Given the description of an element on the screen output the (x, y) to click on. 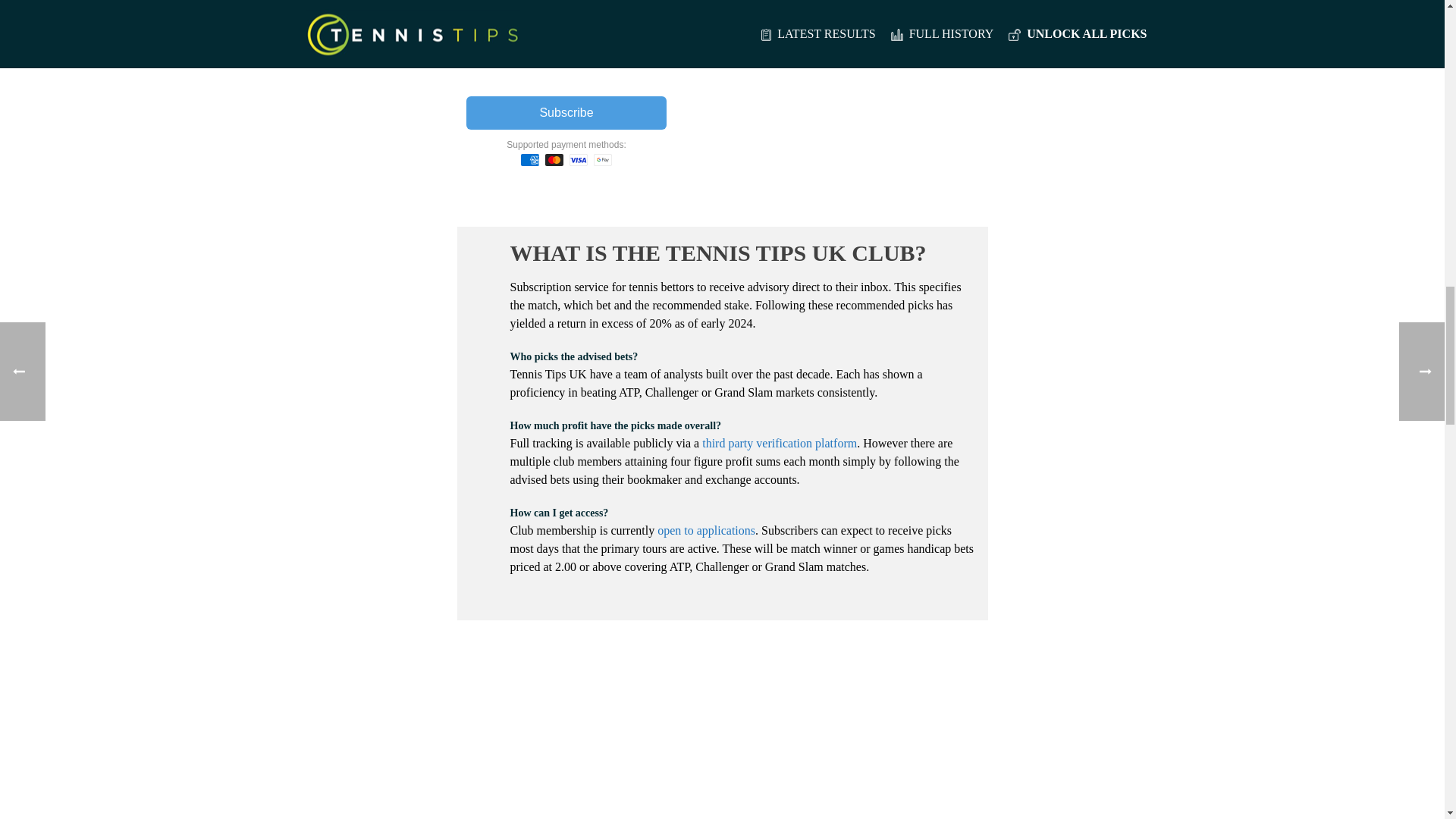
third party verification platform (779, 442)
open to applications (706, 530)
